Given the description of an element on the screen output the (x, y) to click on. 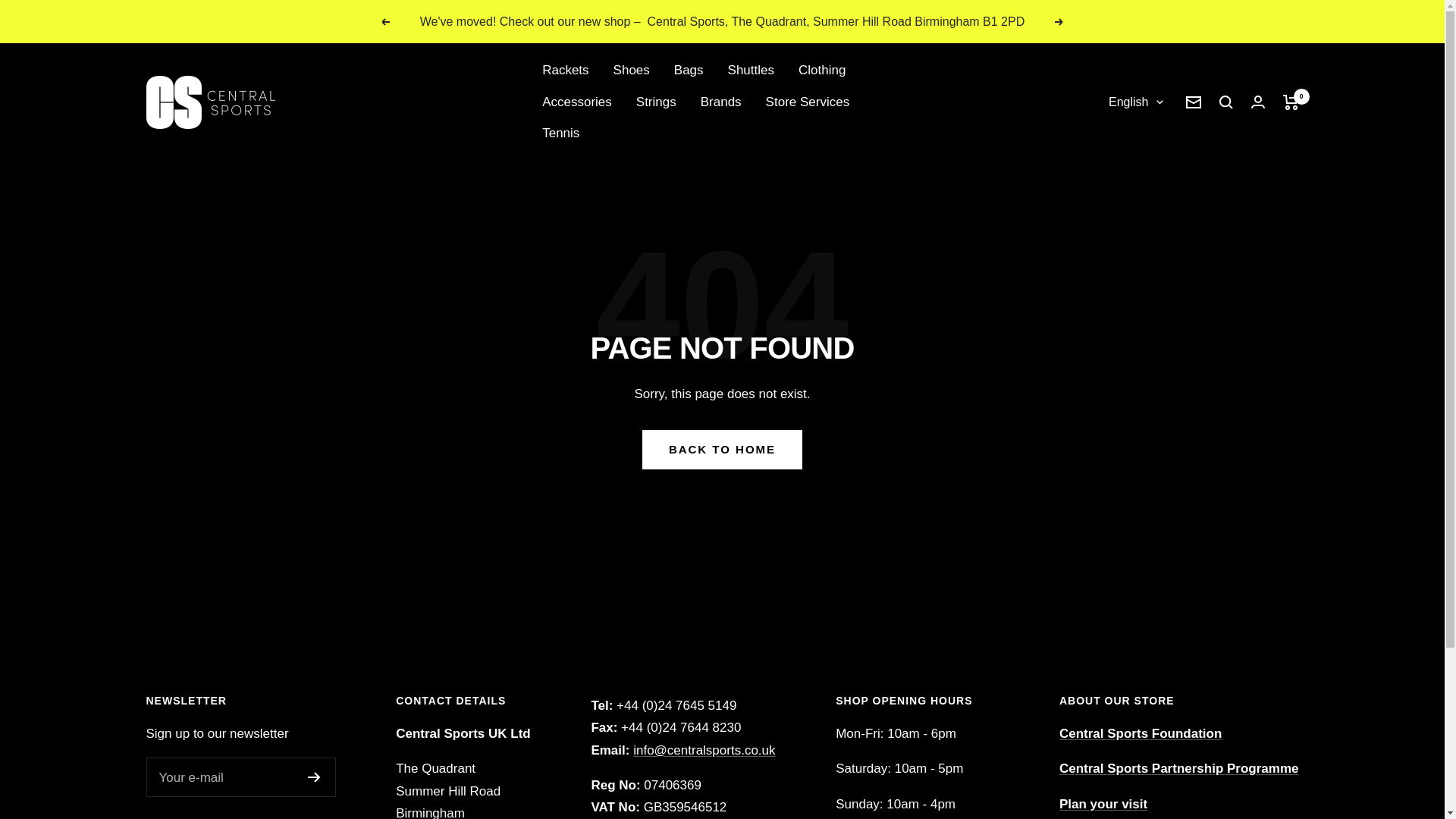
Shuttles (751, 69)
Central Sports Foundation (1140, 733)
centralsportsuk (210, 102)
0 (1290, 102)
Previous (385, 21)
Brands (720, 101)
BACK TO HOME (722, 449)
Rackets (564, 69)
Shoes (630, 69)
Accessories (576, 101)
Clothing (821, 69)
Central Sports Foundation (1140, 733)
Newsletter (1193, 102)
Tennis (560, 133)
Bags (688, 69)
